Given the description of an element on the screen output the (x, y) to click on. 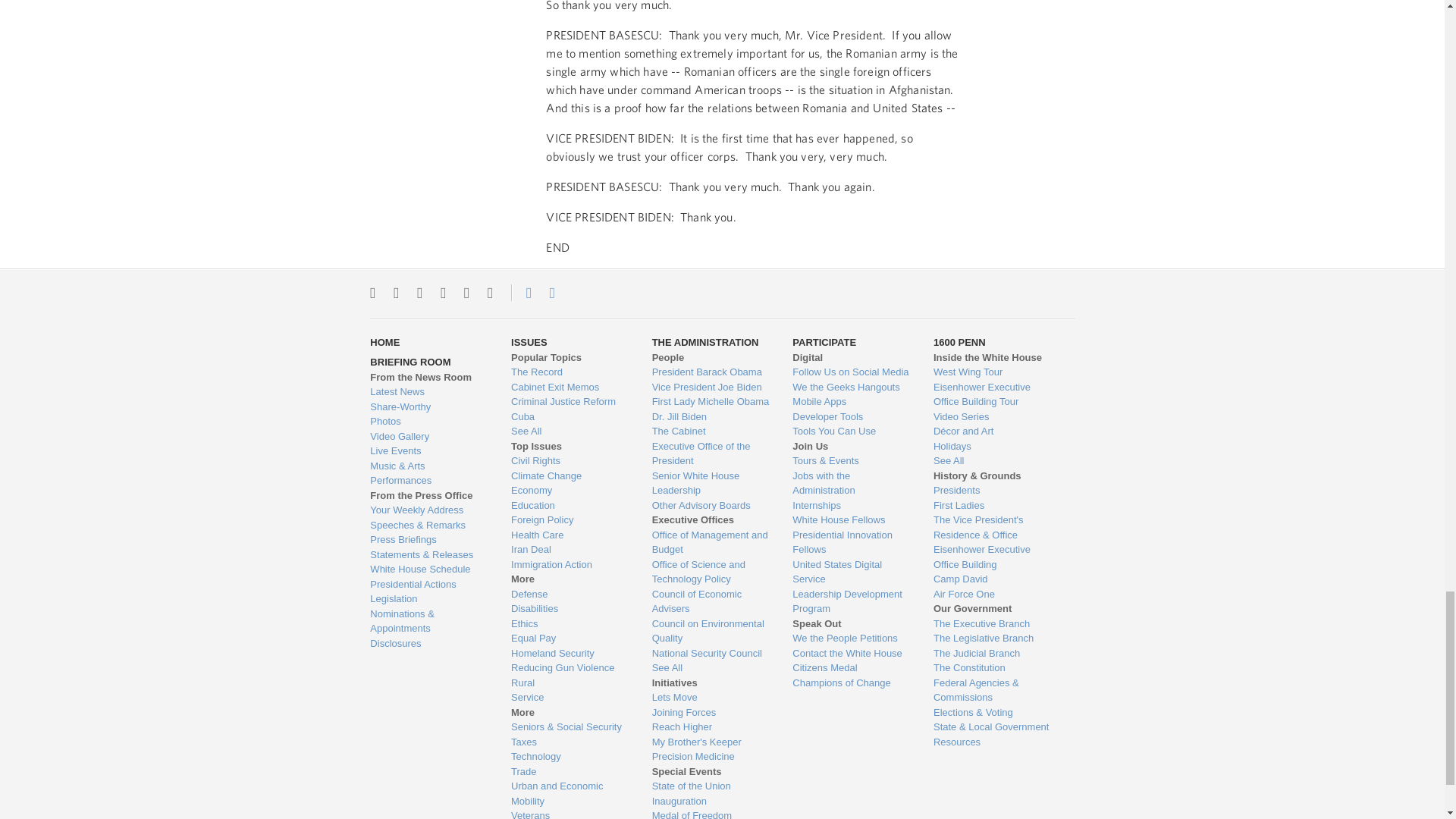
Watch behind-the-scenes videos and more (428, 436)
View the photo of the day and other galleries (428, 421)
Read the latest blog posts from 1600 Pennsylvania Ave (428, 391)
Check out the most popular infographics and videos (428, 406)
Contact the Whitehouse. (521, 292)
